Given the description of an element on the screen output the (x, y) to click on. 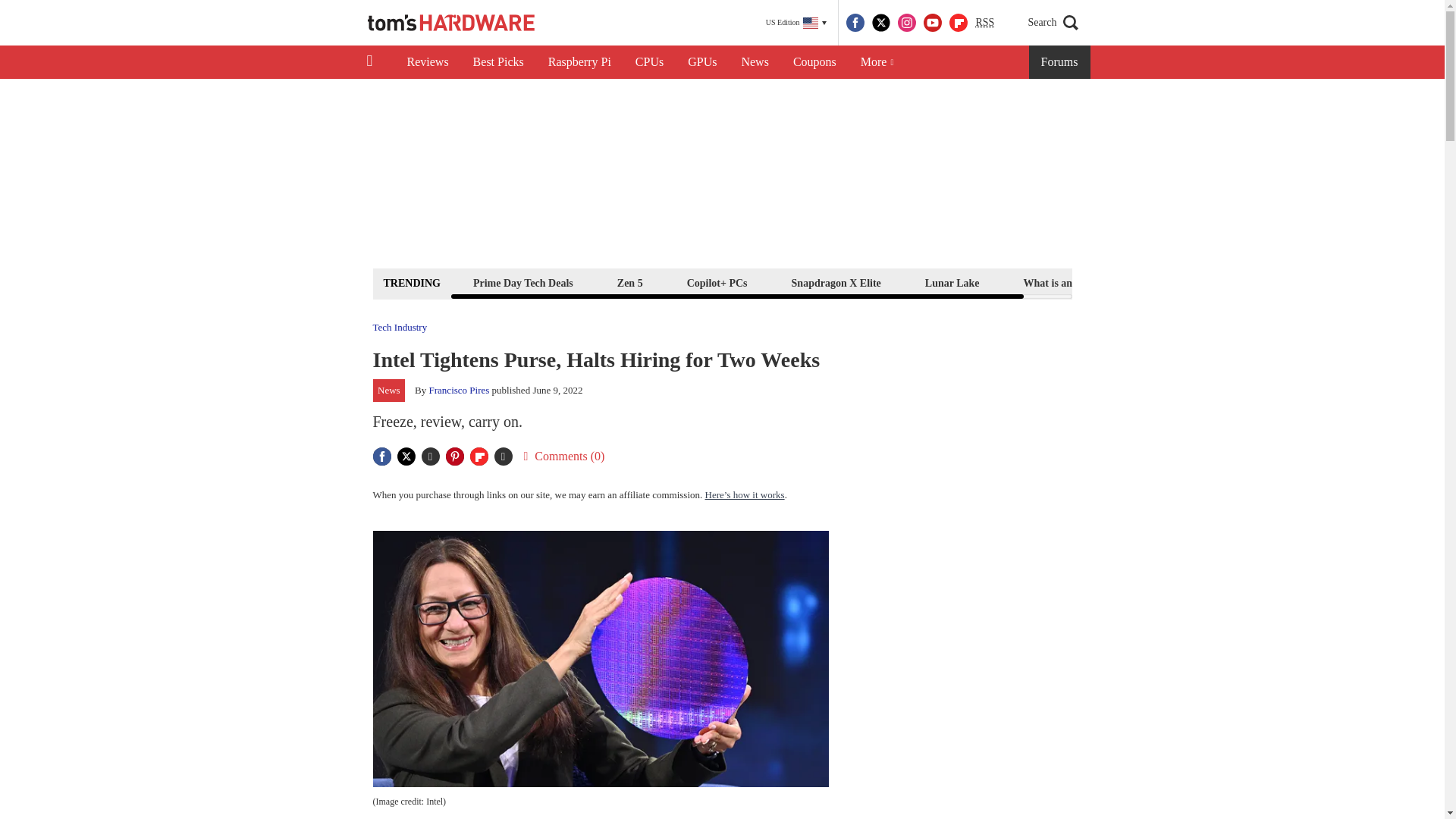
Really Simple Syndication (984, 21)
Best Picks (498, 61)
CPUs (649, 61)
Prime Day Tech Deals (522, 282)
Reviews (427, 61)
GPUs (702, 61)
RSS (984, 22)
US Edition (796, 22)
Coupons (814, 61)
News (754, 61)
Forums (1059, 61)
Raspberry Pi (579, 61)
